Given the description of an element on the screen output the (x, y) to click on. 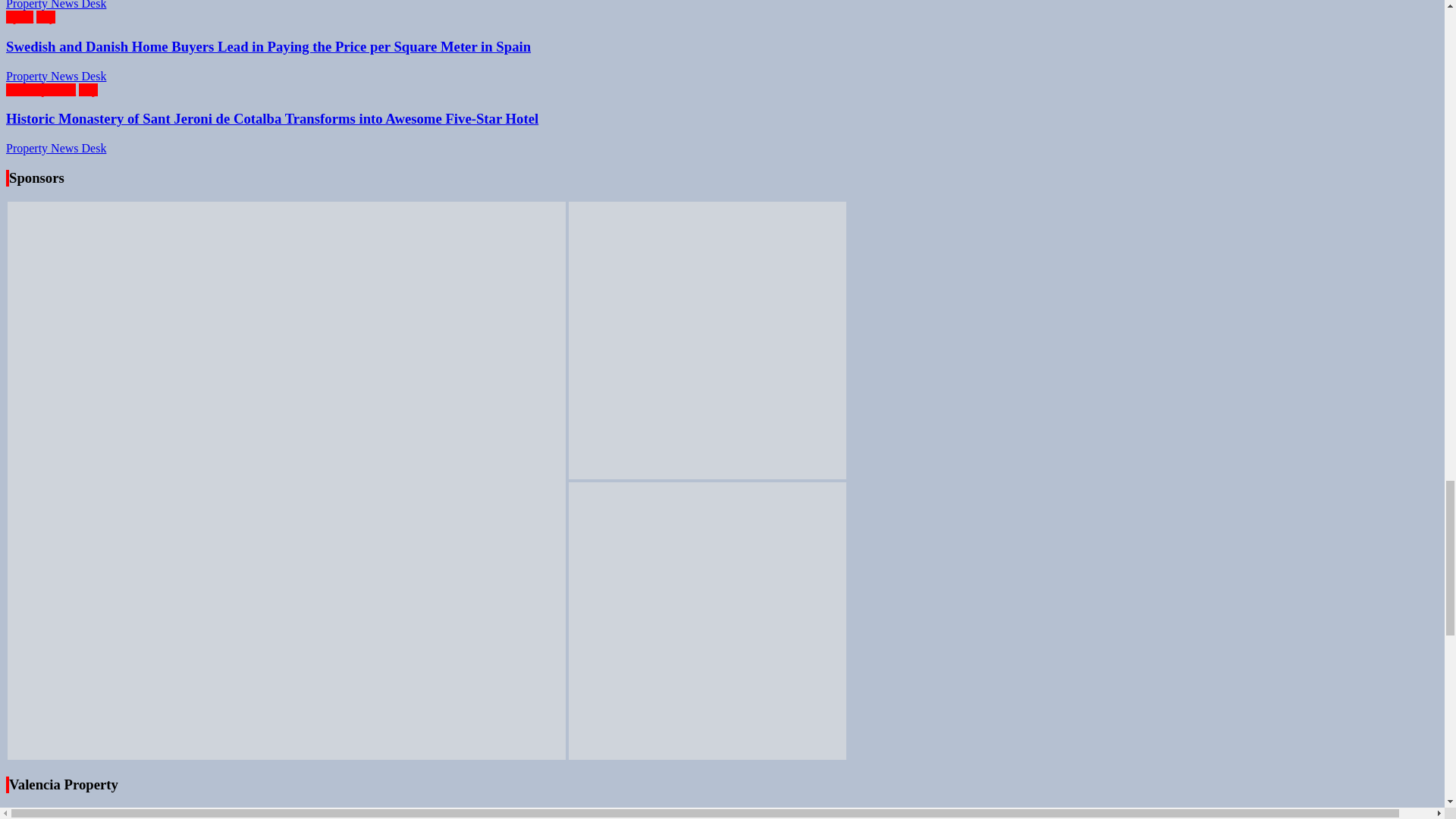
expathub logo square 550 copy (707, 621)
icon square 500 (707, 340)
